Given the description of an element on the screen output the (x, y) to click on. 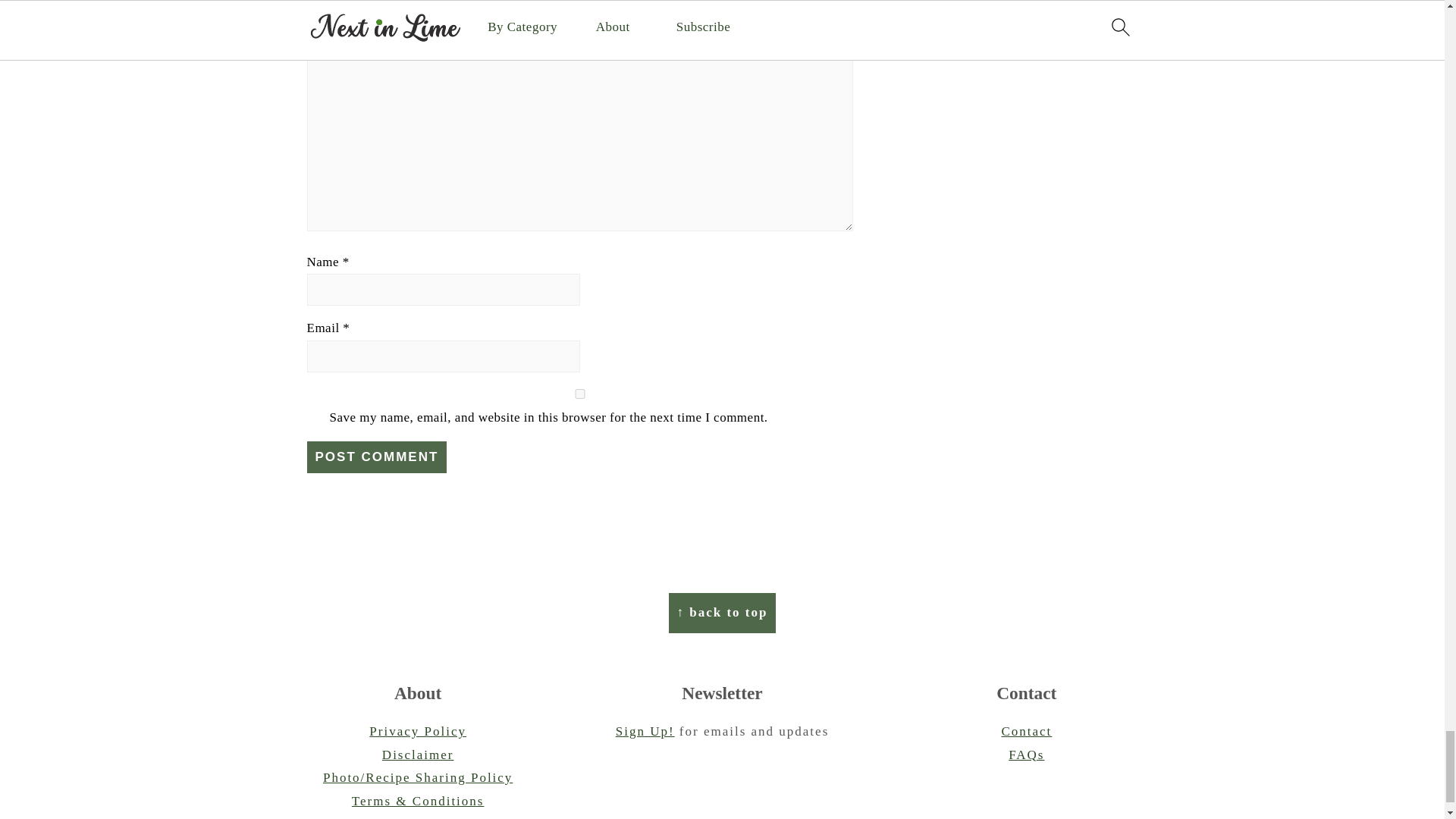
Post Comment (375, 457)
yes (578, 393)
